Given the description of an element on the screen output the (x, y) to click on. 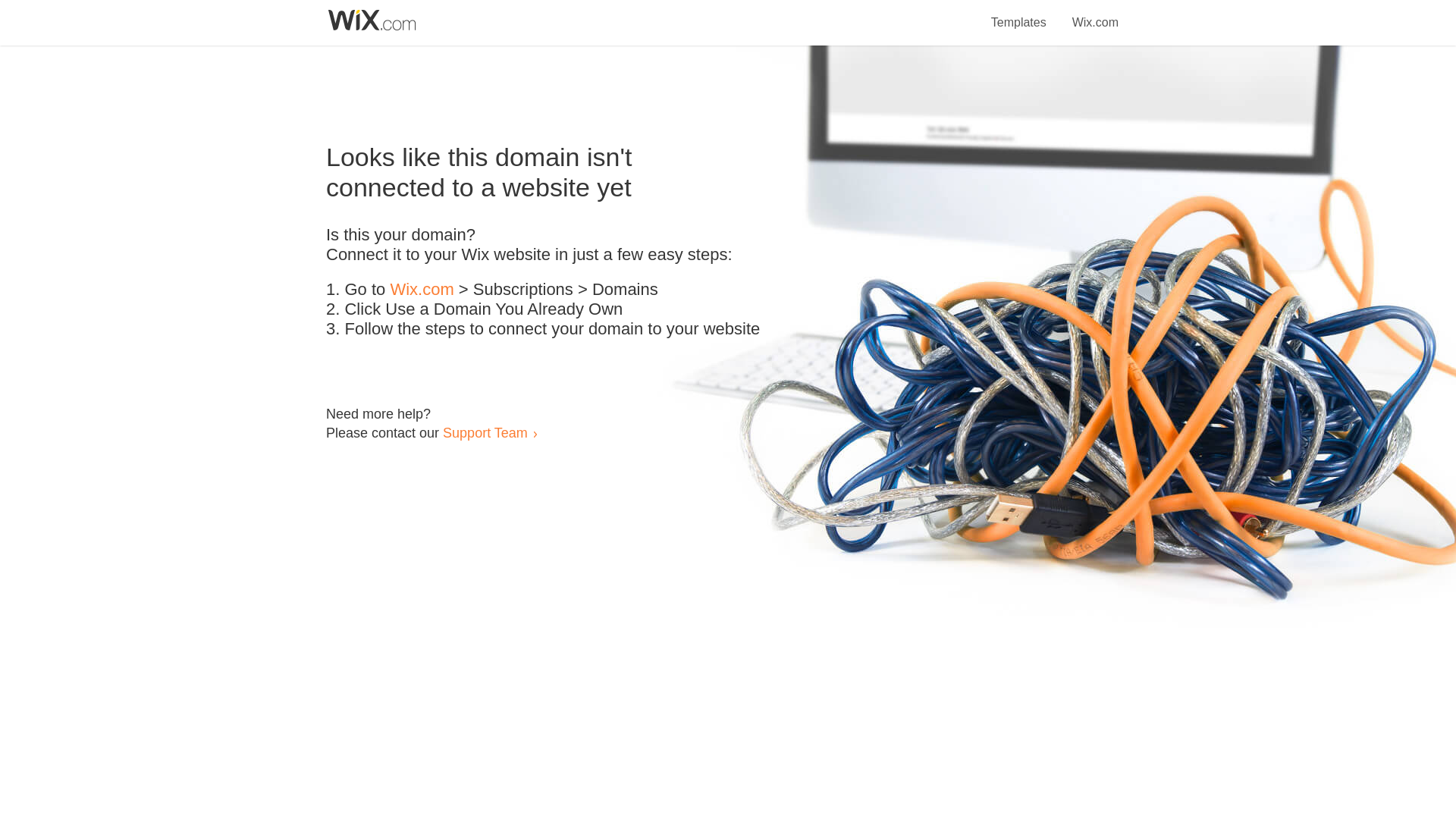
Templates (1018, 14)
Wix.com (1095, 14)
Support Team (484, 432)
Wix.com (421, 289)
